Given the description of an element on the screen output the (x, y) to click on. 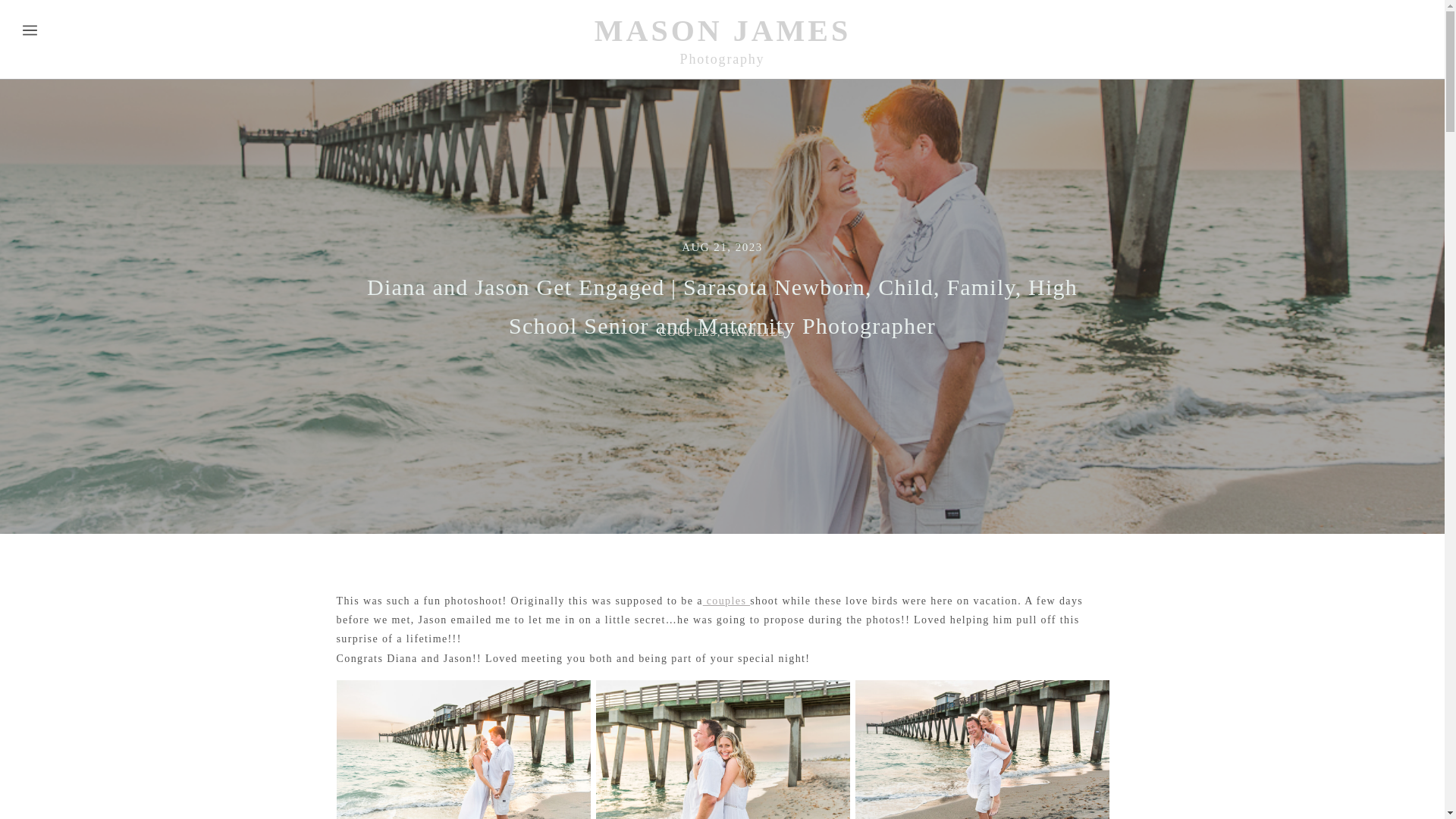
couples (726, 600)
FAMILIES (755, 331)
MASON JAMES (722, 30)
COUPLES (688, 331)
